Given the description of an element on the screen output the (x, y) to click on. 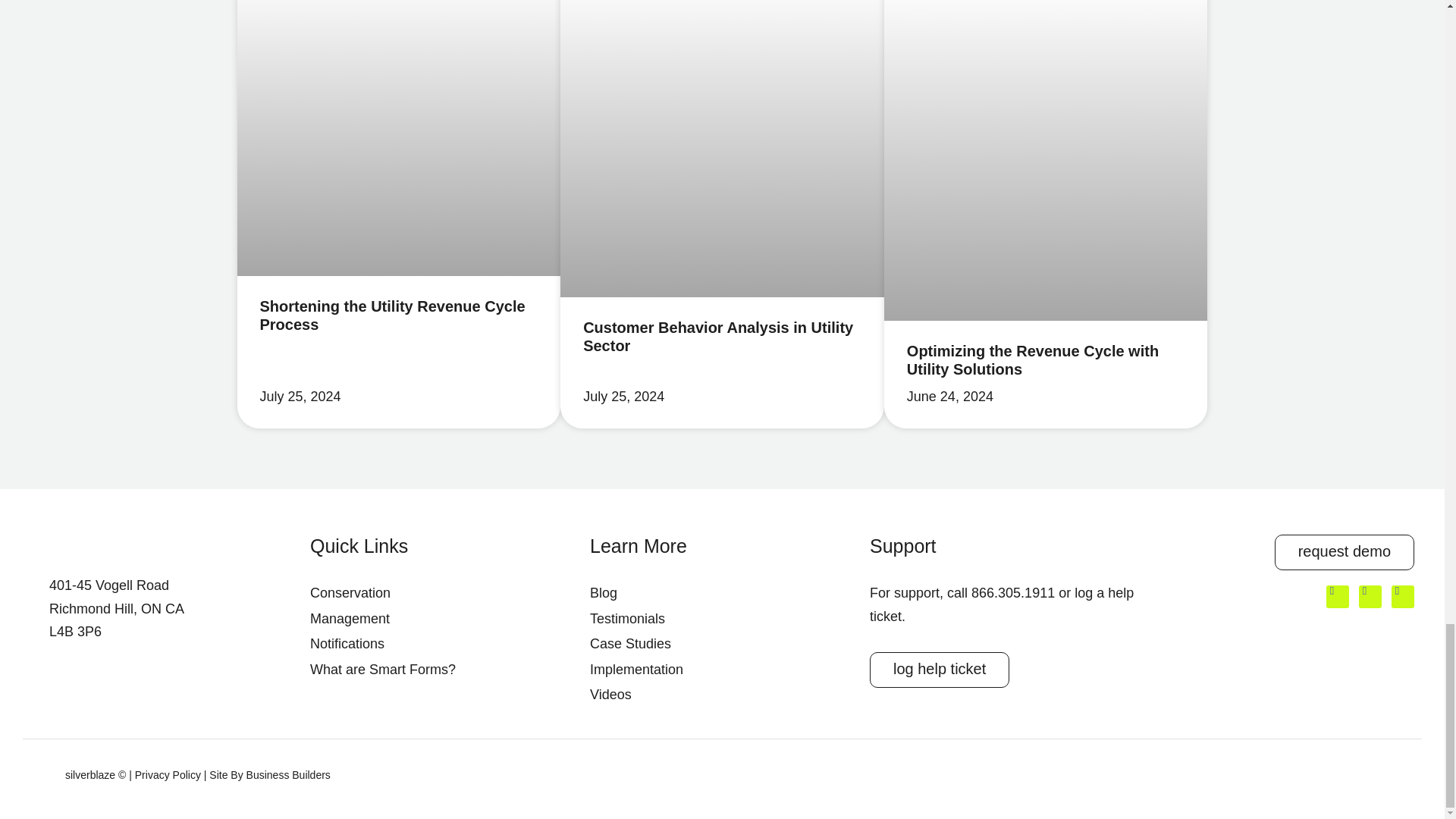
Privacy Policy (167, 775)
Management (442, 618)
Business Builders (288, 775)
log help ticket (939, 669)
Videos (721, 694)
What are Smart Forms? (442, 669)
Implementation (721, 669)
Blog (721, 593)
Case Studies (721, 644)
Conservation (442, 593)
Shortening the Utility Revenue Cycle Process (391, 315)
Notifications (442, 644)
Testimonials (721, 618)
Customer Behavior Analysis in Utility Sector (718, 336)
Optimizing the Revenue Cycle with Utility Solutions (1032, 360)
